Given the description of an element on the screen output the (x, y) to click on. 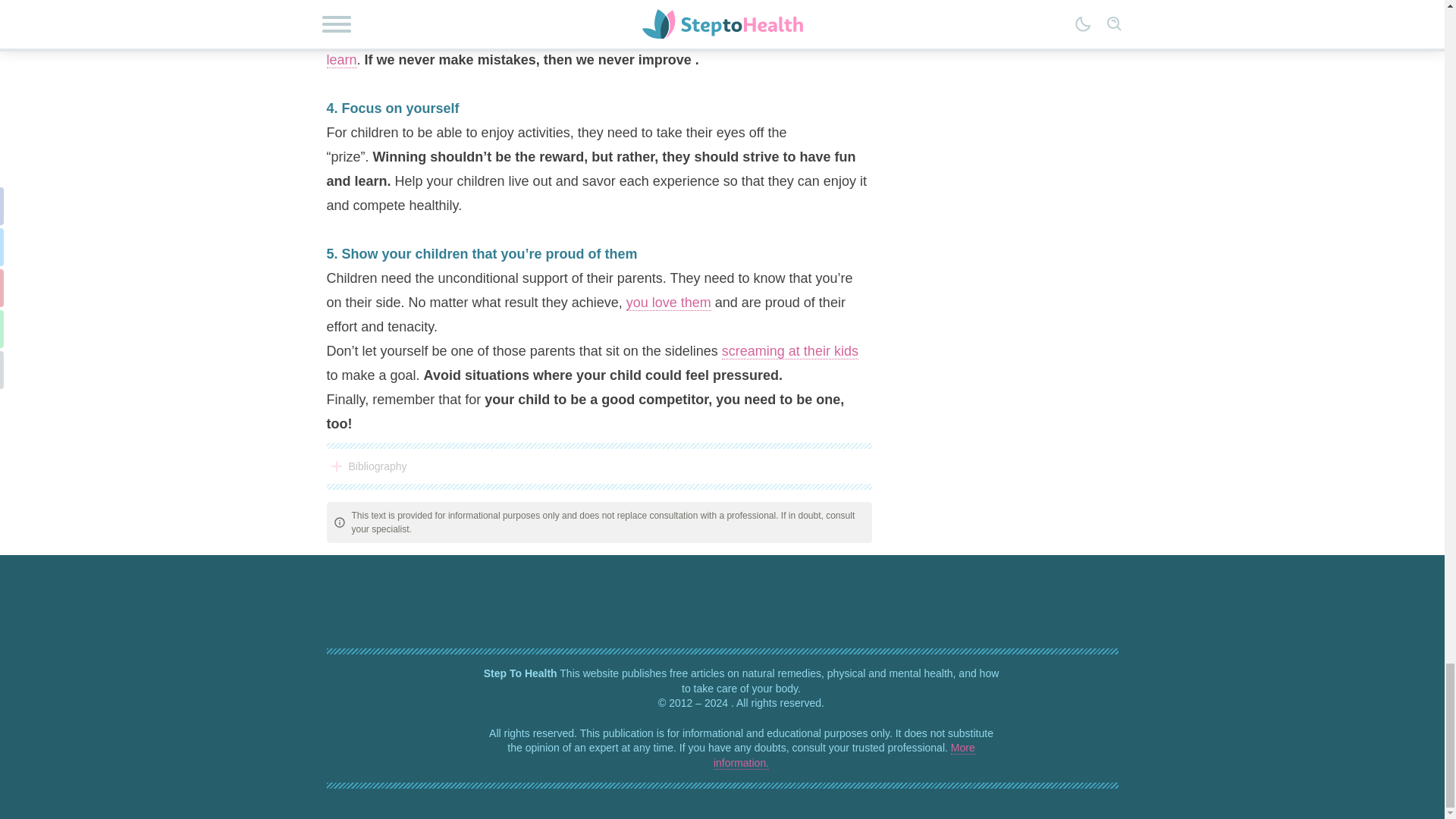
the best way to learn (598, 47)
More information. (844, 755)
screaming at their kids (790, 351)
you love them (668, 302)
Bibliography (598, 466)
